Given the description of an element on the screen output the (x, y) to click on. 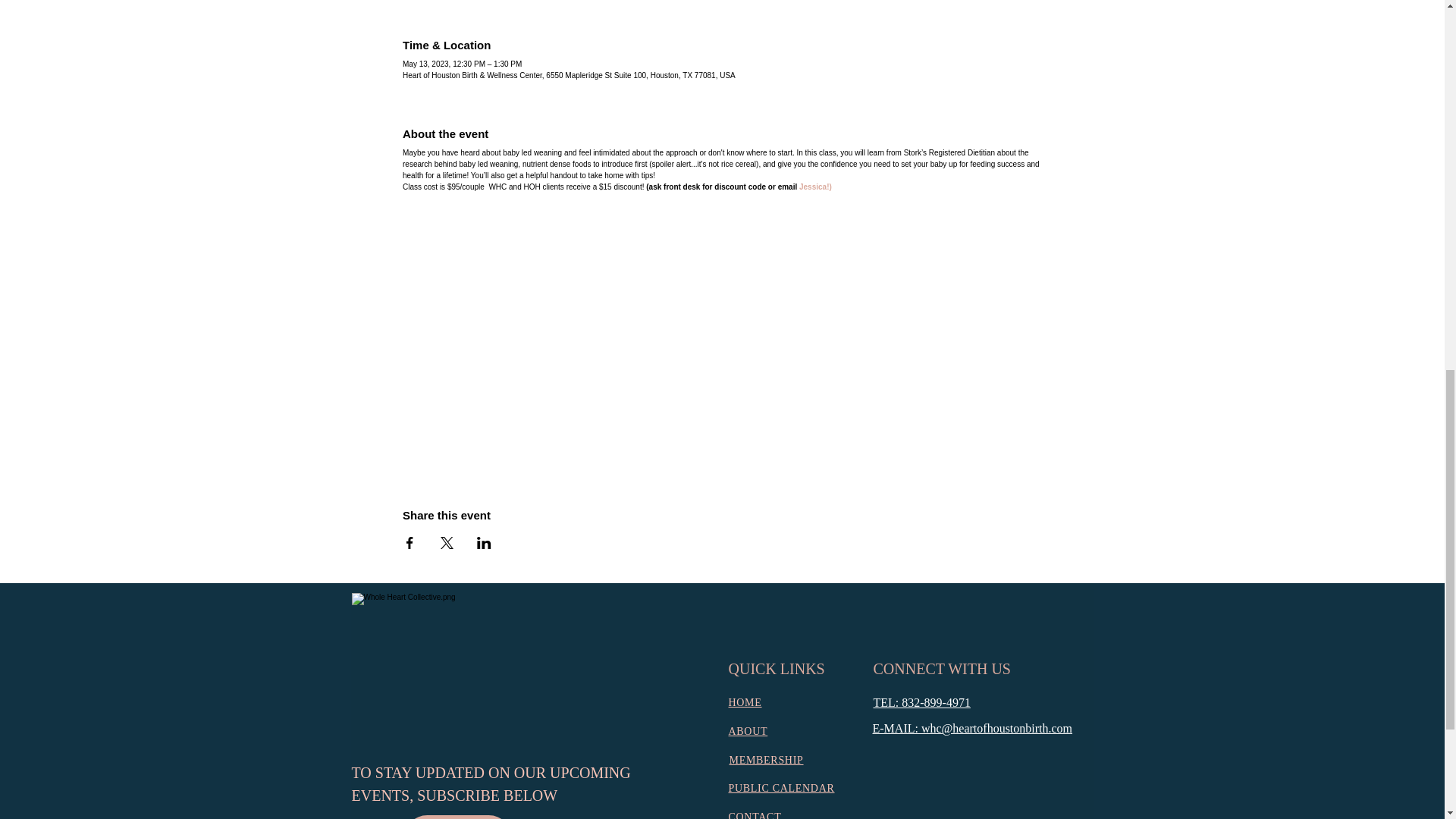
ABOUT (747, 731)
MEMBERSHIP (766, 759)
HOME (744, 702)
CONTACT (754, 815)
SEND (457, 816)
PUBLIC CALENDAR (781, 787)
TEL: 832-899-4971 (922, 702)
